Given the description of an element on the screen output the (x, y) to click on. 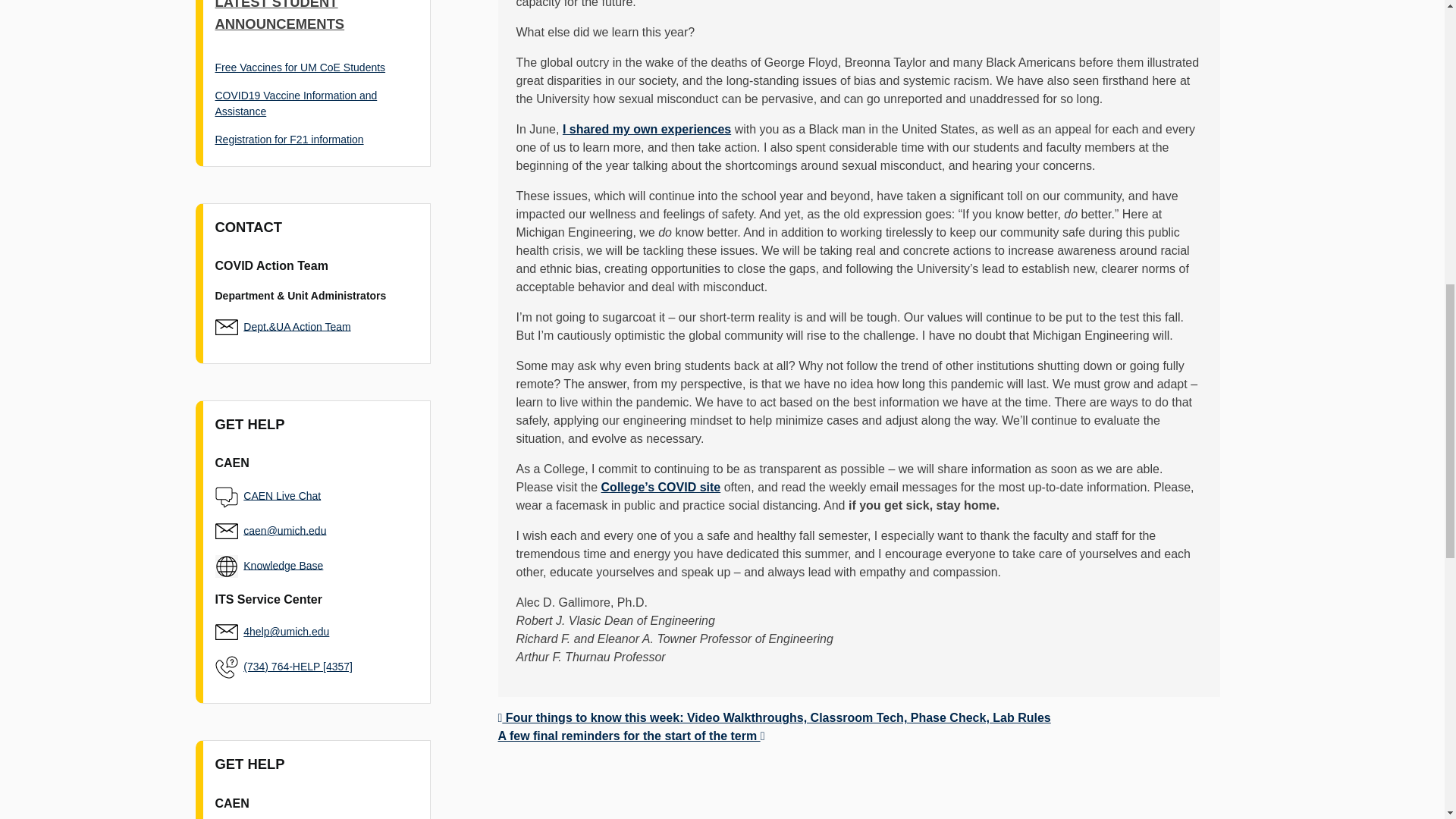
Registration for F21 information (289, 139)
LATEST STUDENT ANNOUNCEMENTS (280, 15)
Free Vaccines for UM CoE Students (300, 67)
COVID19 Vaccine Information and Assistance (296, 103)
